Given the description of an element on the screen output the (x, y) to click on. 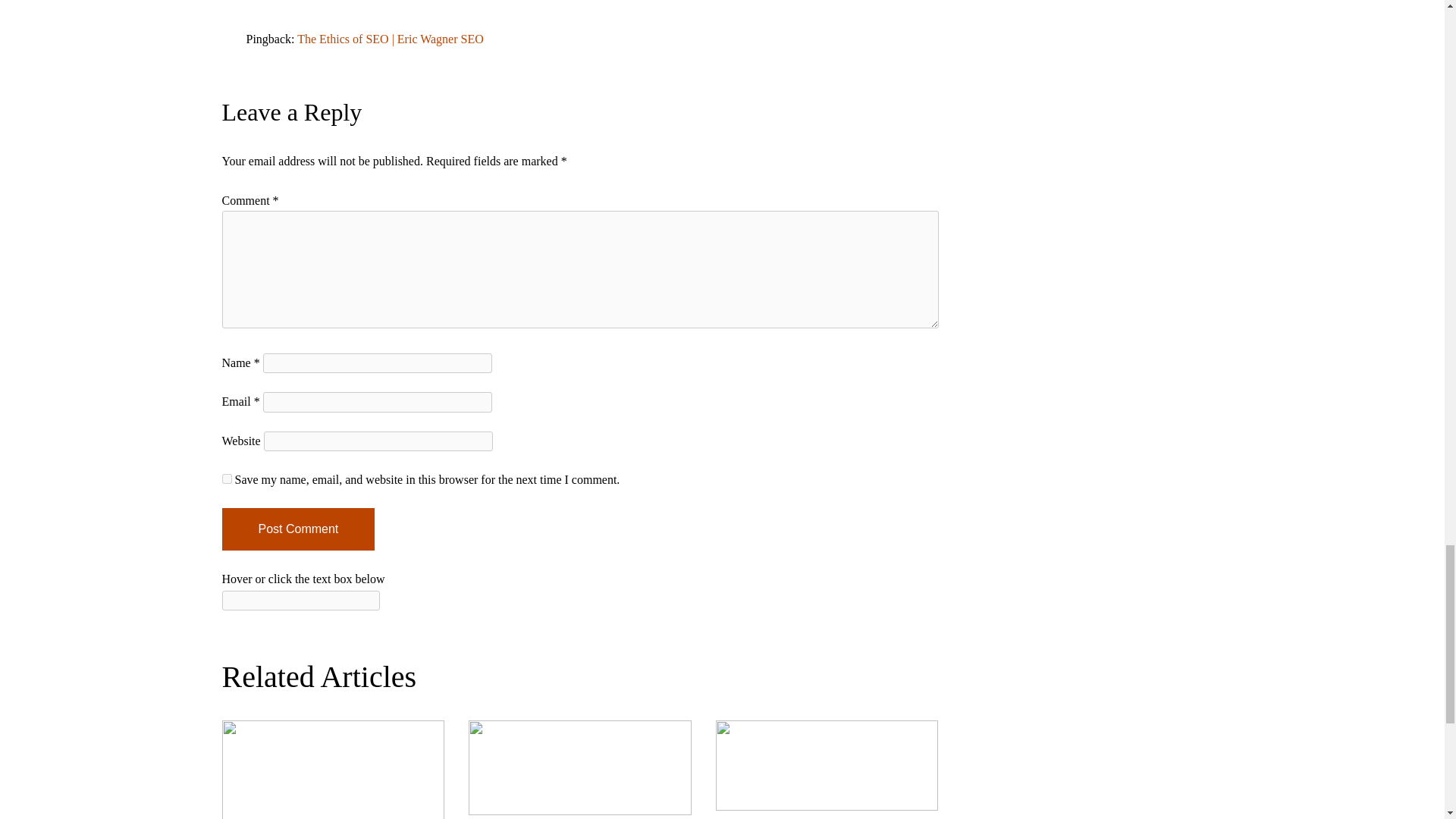
Post Comment (297, 528)
yes (226, 479)
Post Comment (297, 528)
